Given the description of an element on the screen output the (x, y) to click on. 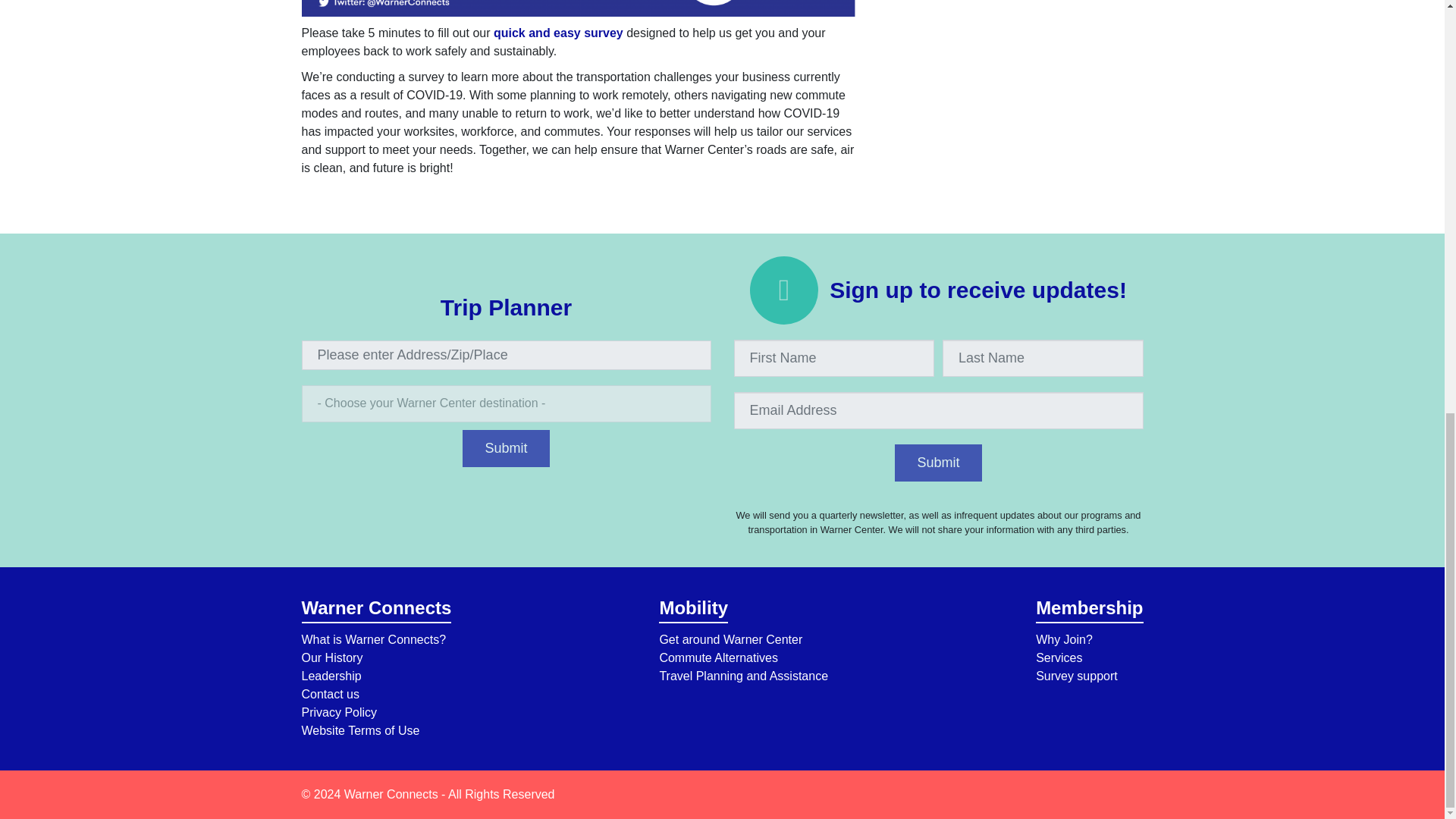
quick and easy survey (558, 32)
Submit (505, 447)
